Given the description of an element on the screen output the (x, y) to click on. 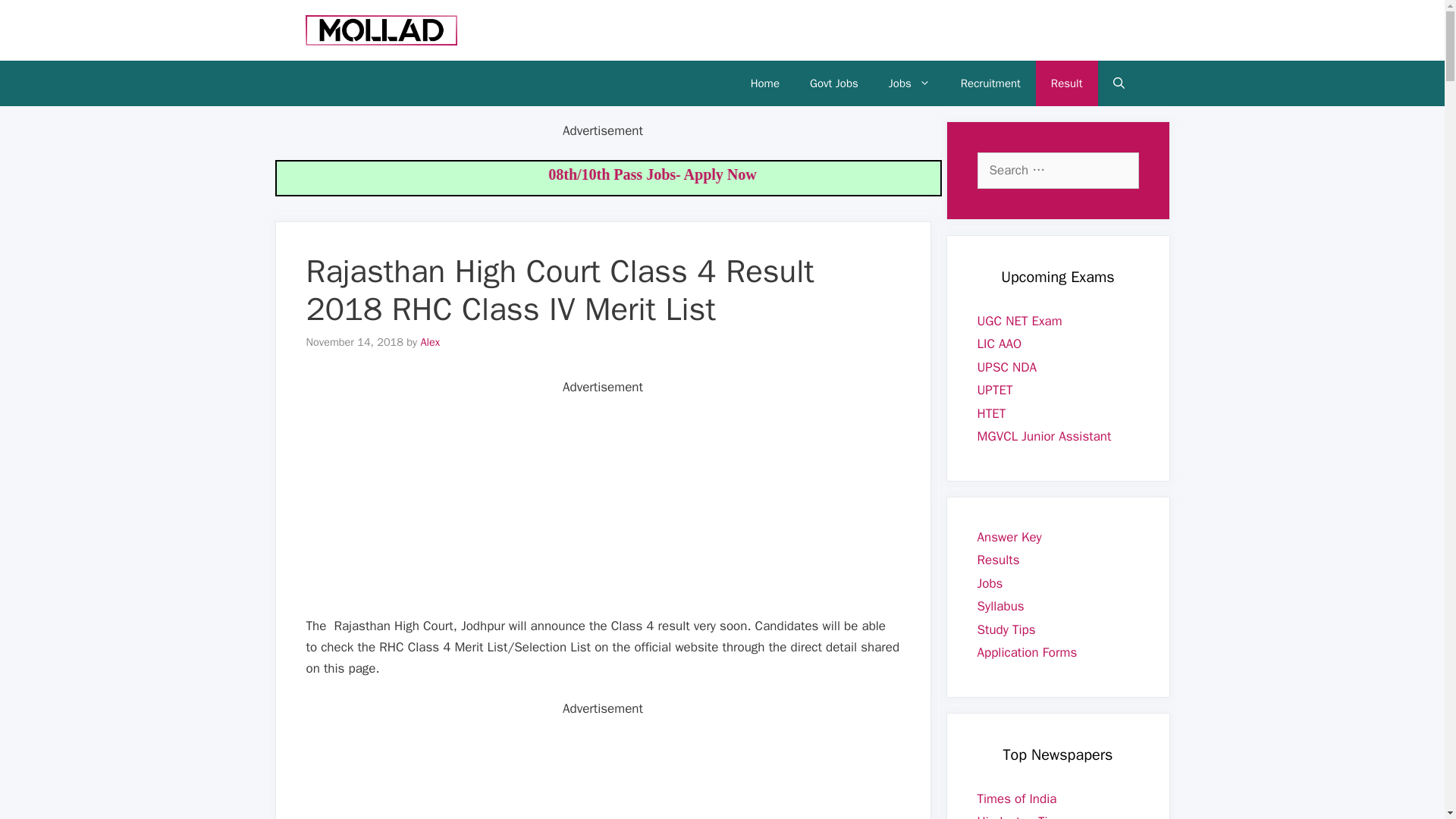
Advertisement (608, 503)
Alex (429, 341)
View all posts by Alex (429, 341)
Advertisement (608, 769)
Search for: (1057, 170)
Jobs (908, 83)
Result (1066, 83)
Home (764, 83)
Recruitment (989, 83)
Govt Jobs (833, 83)
